Given the description of an element on the screen output the (x, y) to click on. 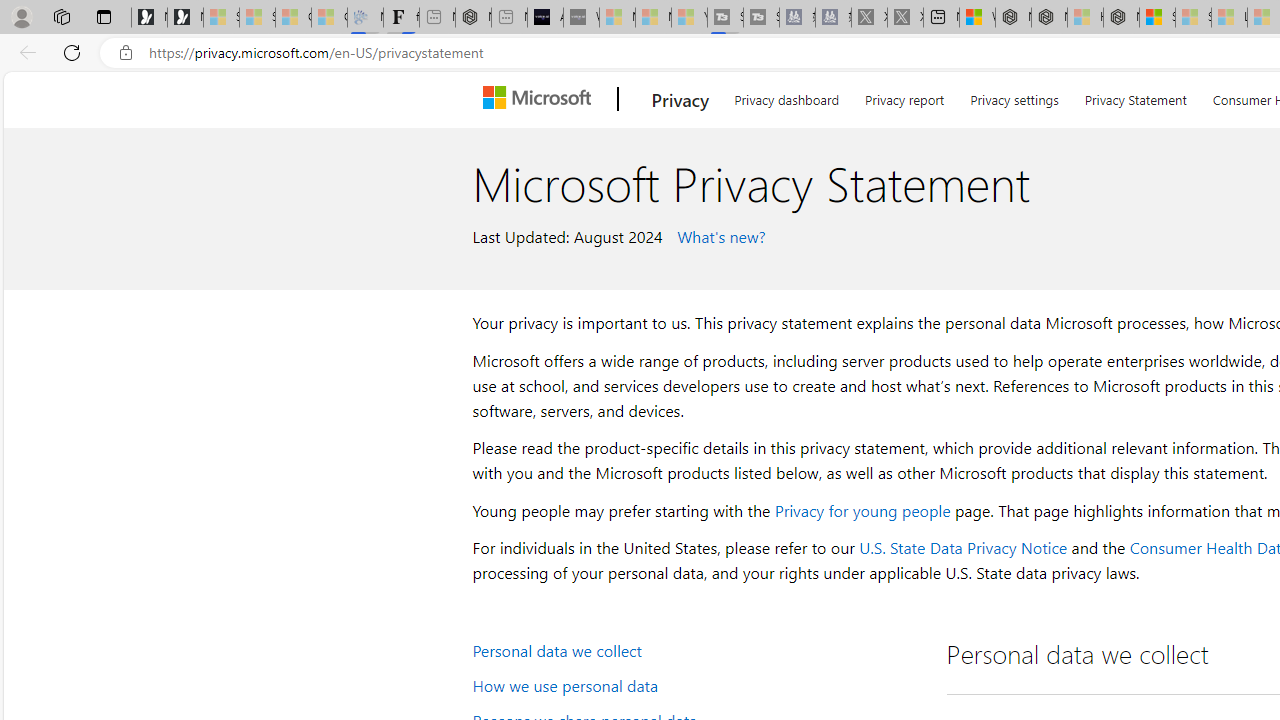
Microsoft (541, 99)
Microsoft Start Sports - Sleeping (617, 17)
Microsoft Start - Sleeping (653, 17)
Privacy for young people (862, 509)
U.S. State Data Privacy Notice (962, 547)
Newsletter Sign Up (185, 17)
AI Voice Changer for PC and Mac - Voice.ai (545, 17)
 What's new? (718, 235)
